Given the description of an element on the screen output the (x, y) to click on. 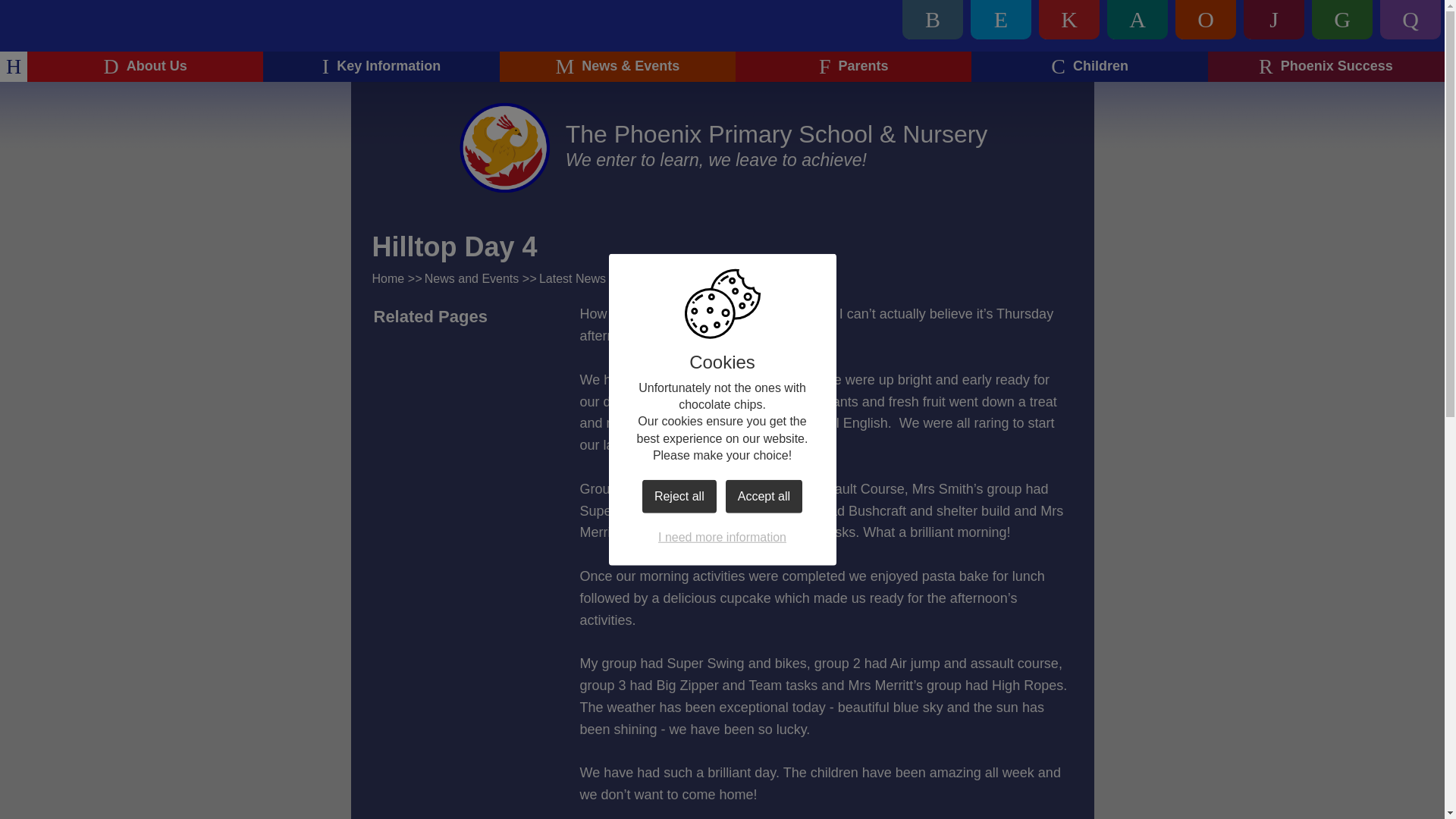
01268543664 (1188, 19)
Home Page (505, 147)
Home (13, 66)
Important E-Safety (902, 19)
About Us (145, 66)
Log in (1410, 19)
Key Information (381, 66)
